Given the description of an element on the screen output the (x, y) to click on. 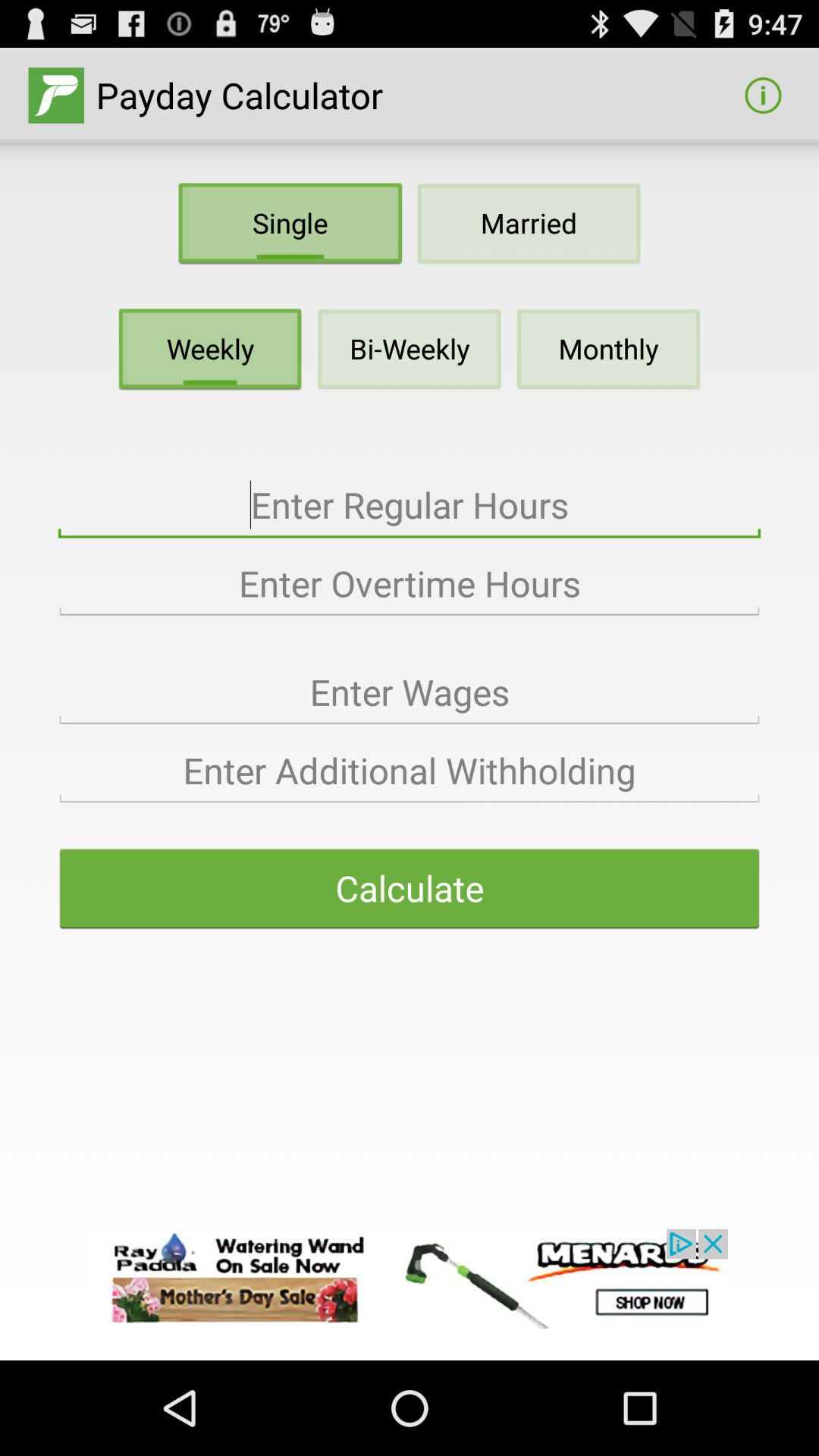
field to enter overtime hours (409, 583)
